Given the description of an element on the screen output the (x, y) to click on. 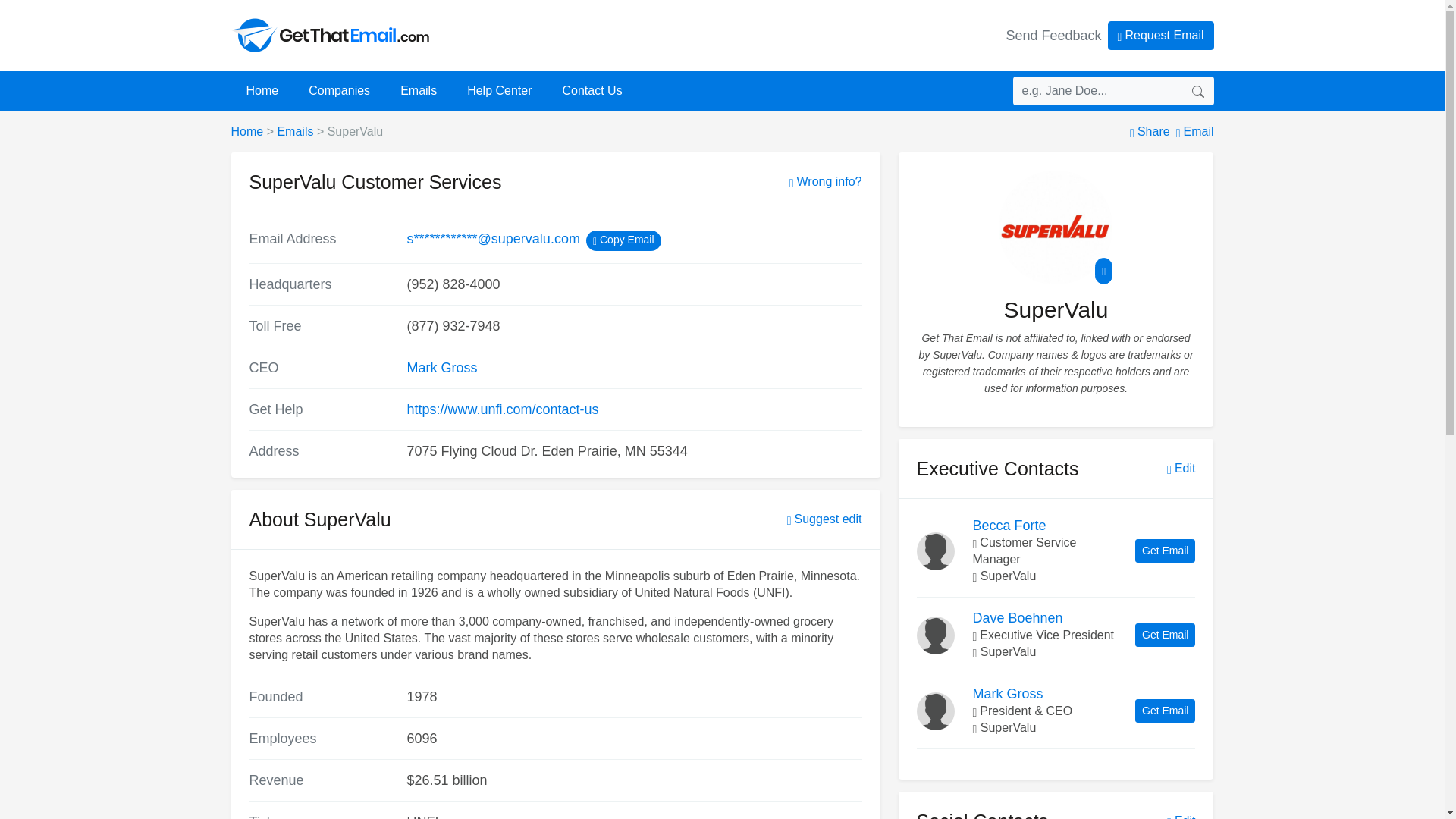
Request Email (1161, 35)
Suggest edit (824, 519)
Home (246, 131)
Emails (418, 90)
Get Email (1165, 550)
Share (1149, 131)
Home (262, 90)
Mark Gross (441, 367)
Becca Forte (1008, 525)
Wrong info? (825, 181)
Emails (294, 131)
Companies (339, 90)
Send Feedback (1054, 35)
Help Center (499, 90)
Copy Email (623, 240)
